Given the description of an element on the screen output the (x, y) to click on. 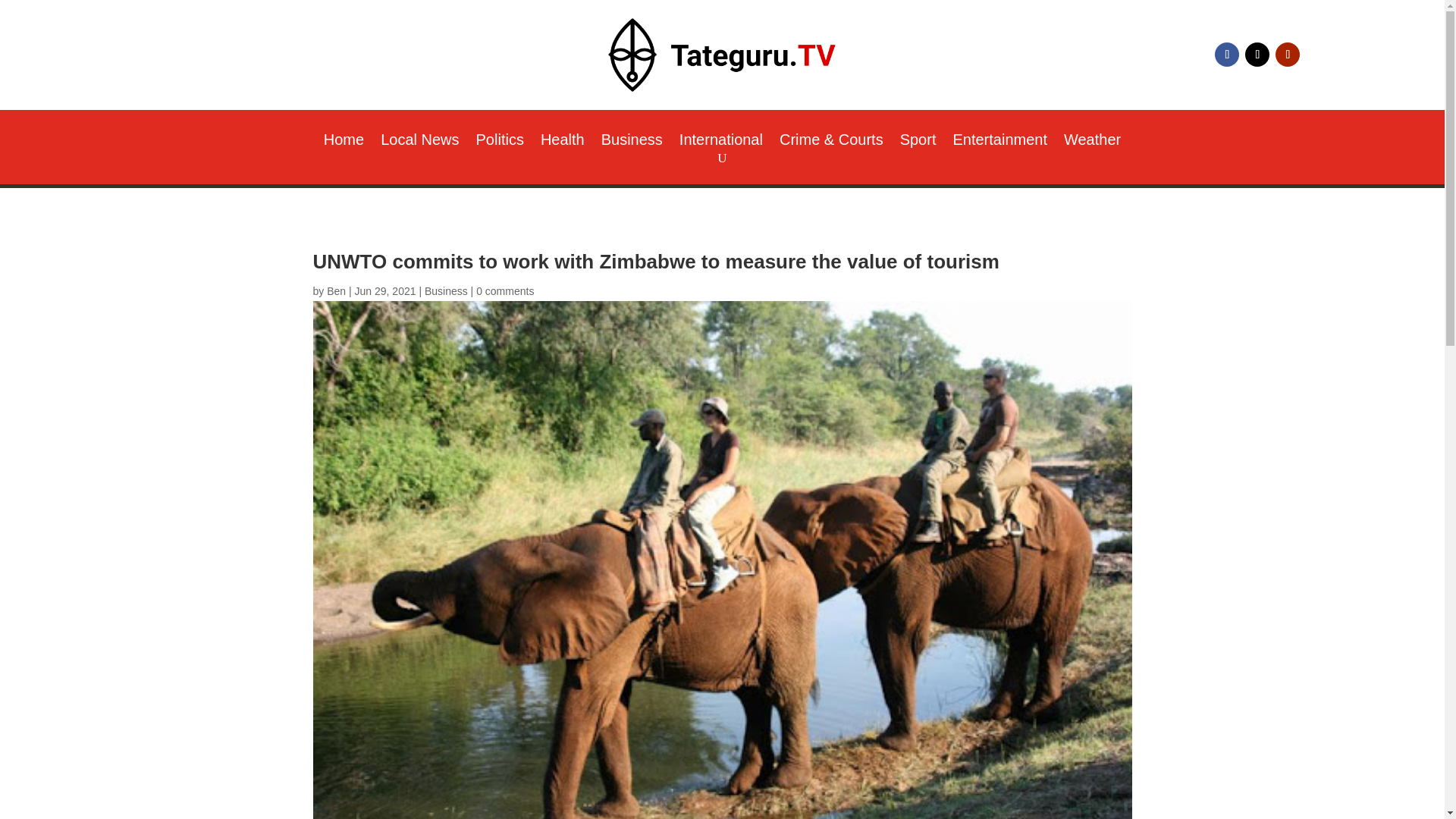
Politics (500, 142)
Health (562, 142)
Local News (419, 142)
Posts by Ben (336, 291)
Entertainment (999, 142)
Sport (917, 142)
Follow on Facebook (1226, 54)
Home (343, 142)
Business (631, 142)
Weather (1092, 142)
Follow on Youtube (1287, 54)
International (720, 142)
Follow on X (1256, 54)
